Given the description of an element on the screen output the (x, y) to click on. 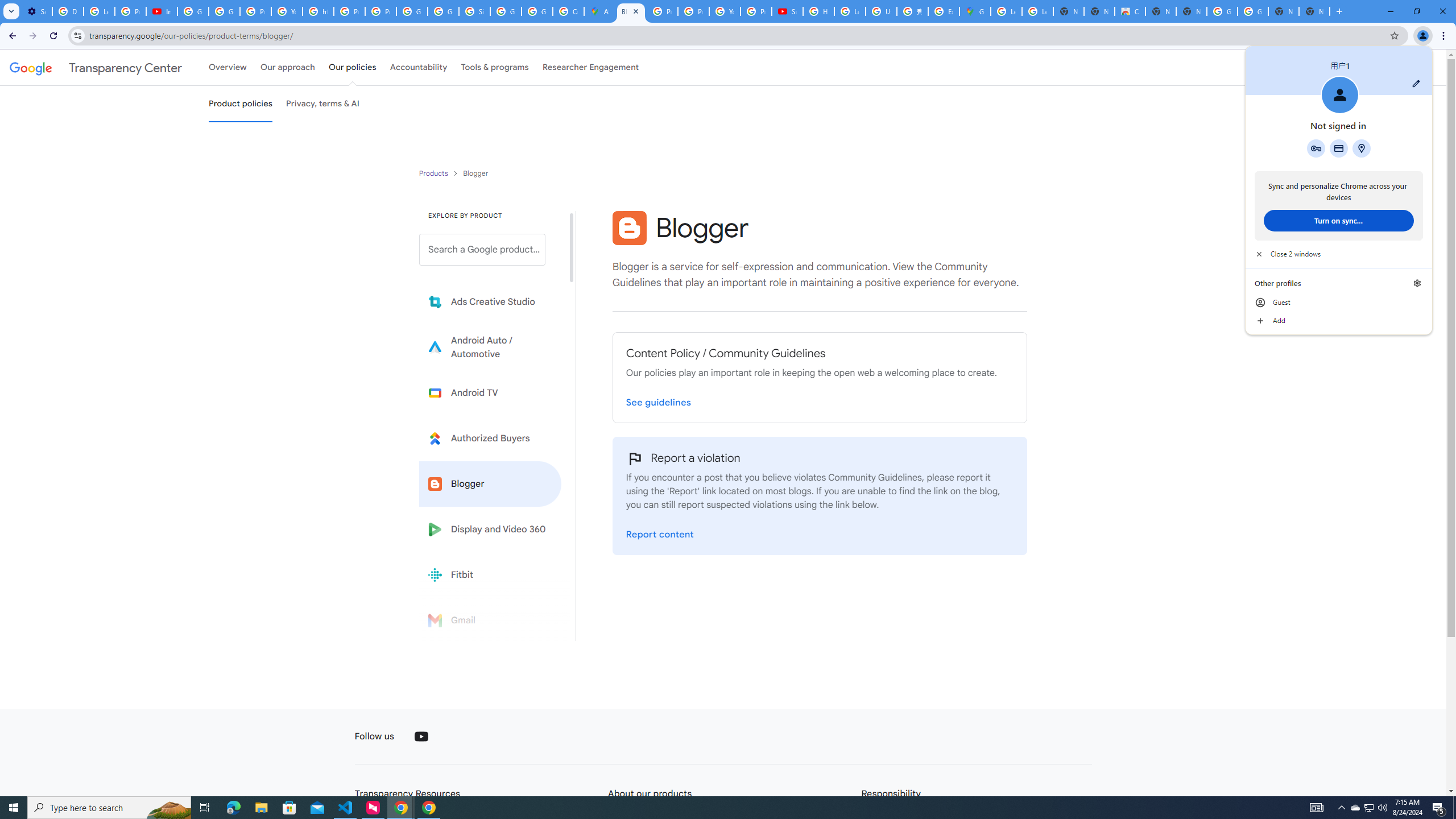
Addresses and more (1361, 148)
Our approach (287, 67)
Blogger Policies and Guidelines - Transparency Center (631, 11)
Google Chrome - 1 running window (428, 807)
Display and Video 360 (490, 529)
Accountability (418, 67)
New Tab (1314, 11)
AutomationID: 4105 (1316, 807)
Payment methods (1338, 148)
YouTube (724, 11)
Chrome Web Store (1129, 11)
